Given the description of an element on the screen output the (x, y) to click on. 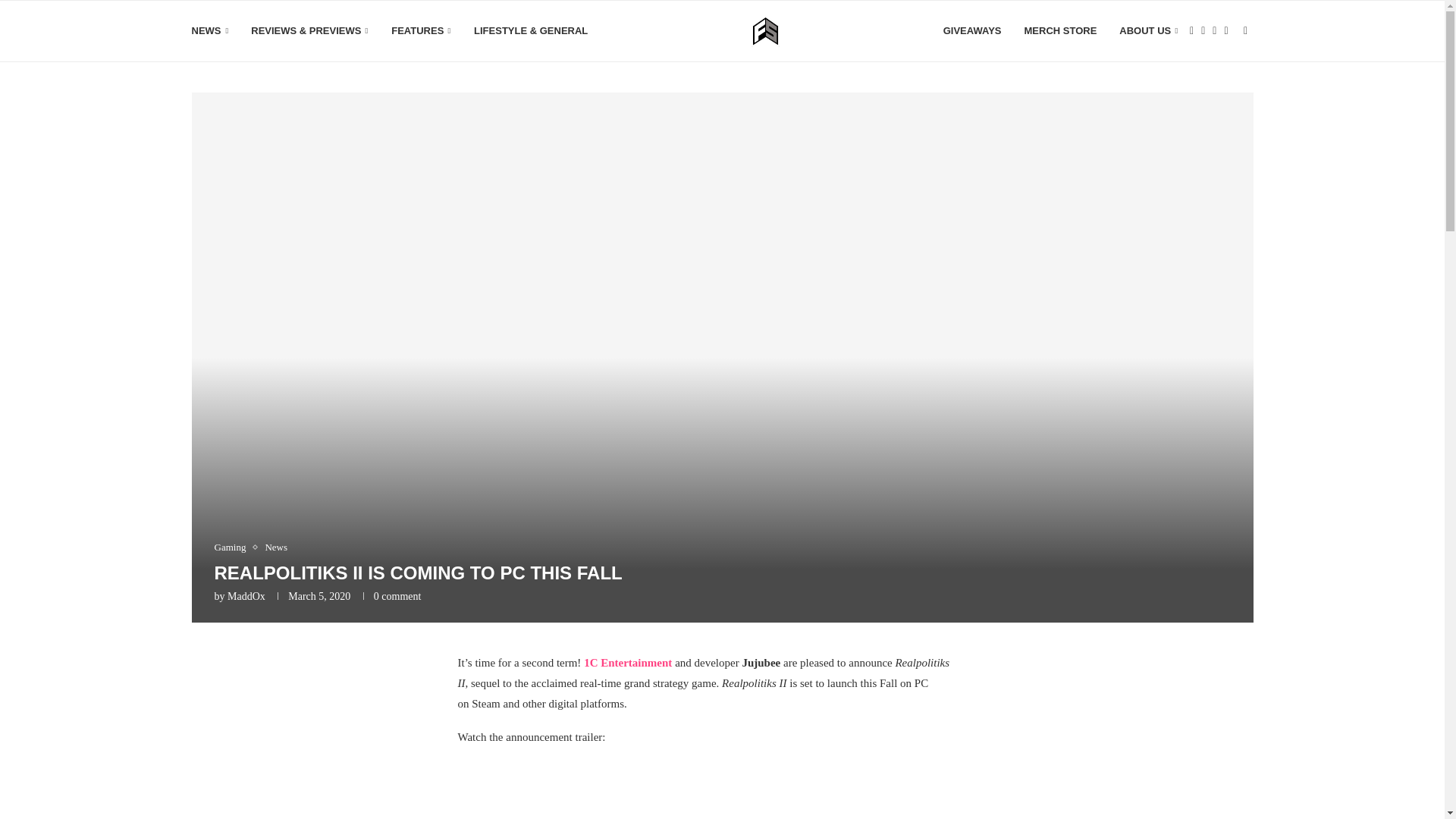
News (275, 547)
MaddOx (245, 595)
1C Entertainment (627, 662)
FEATURES (421, 30)
Gaming (233, 547)
GIVEAWAYS (972, 30)
ABOUT US (1148, 30)
MERCH STORE (1061, 30)
